Given the description of an element on the screen output the (x, y) to click on. 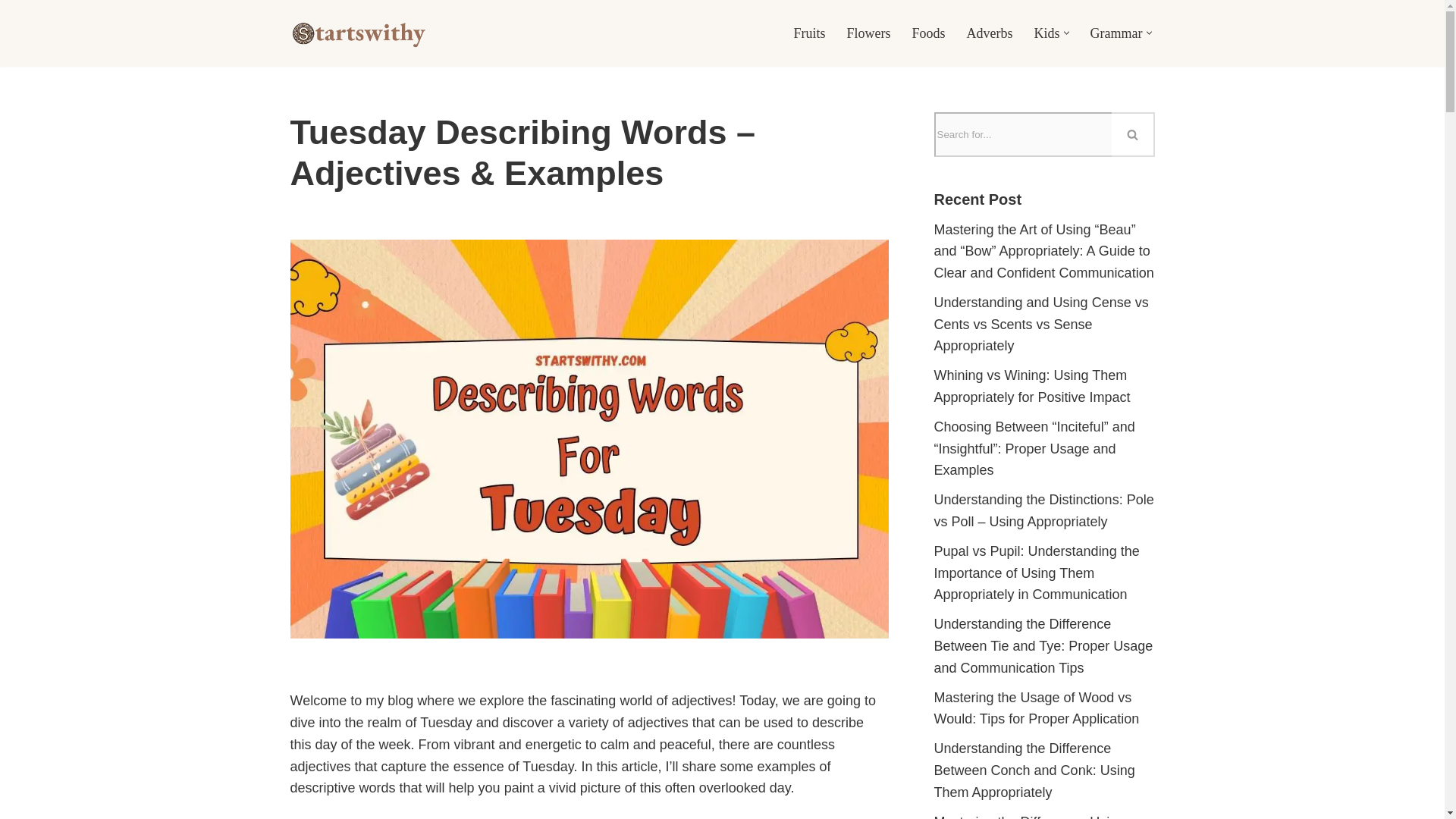
Kids (1046, 33)
Fruits (809, 33)
Grammar (1116, 33)
Foods (927, 33)
Adverbs (989, 33)
Flowers (867, 33)
Skip to content (11, 31)
